Given the description of an element on the screen output the (x, y) to click on. 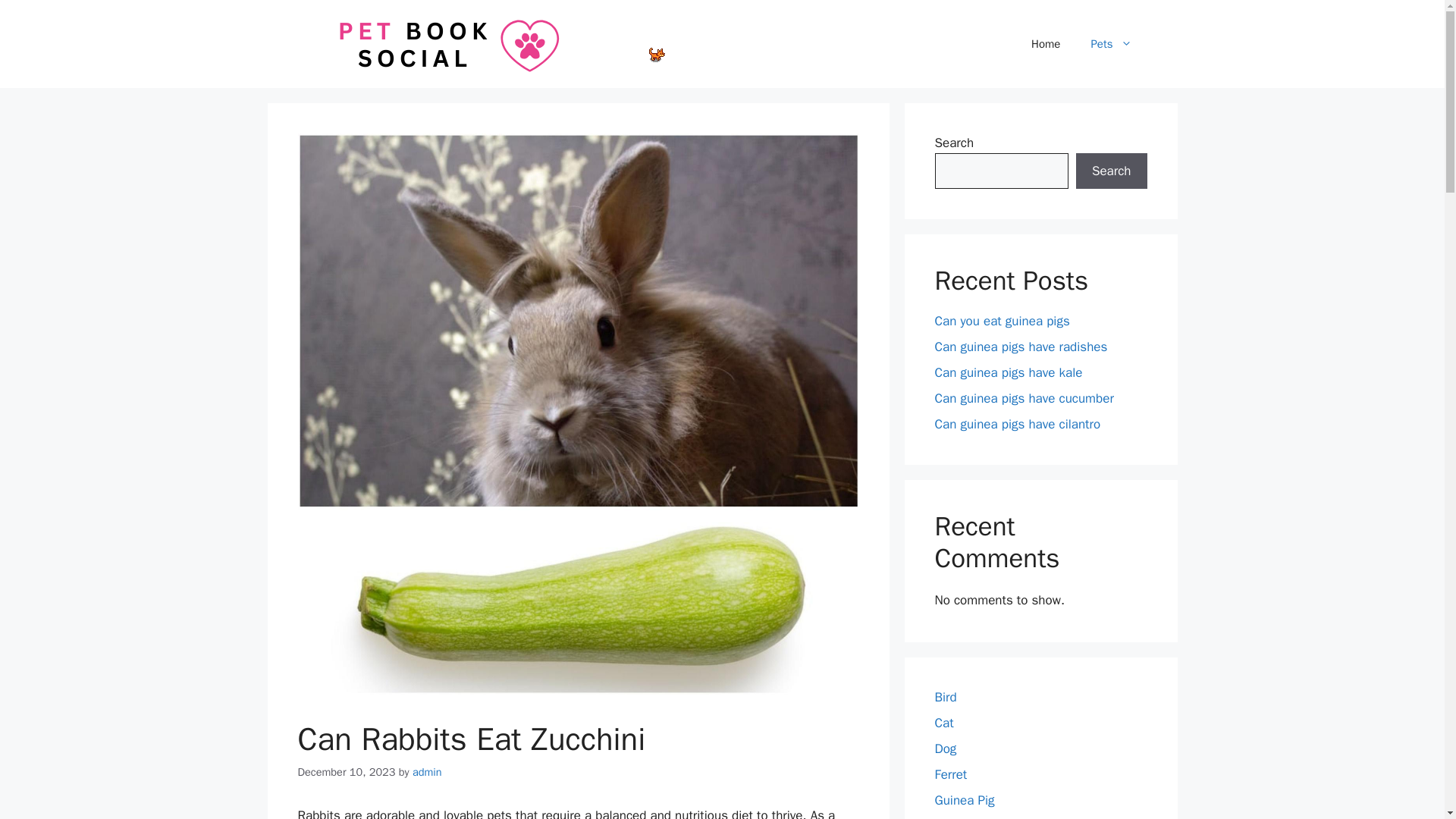
Bird (945, 697)
Can you eat guinea pigs (1001, 320)
View all posts by admin (427, 771)
Search (1111, 171)
Can guinea pigs have cilantro (1017, 424)
admin (427, 771)
Can guinea pigs have radishes (1020, 346)
Dog (945, 748)
Home (1045, 43)
Pets (1111, 43)
Can guinea pigs have cucumber (1023, 398)
Can guinea pigs have kale (1007, 372)
Cat (943, 722)
